Given the description of an element on the screen output the (x, y) to click on. 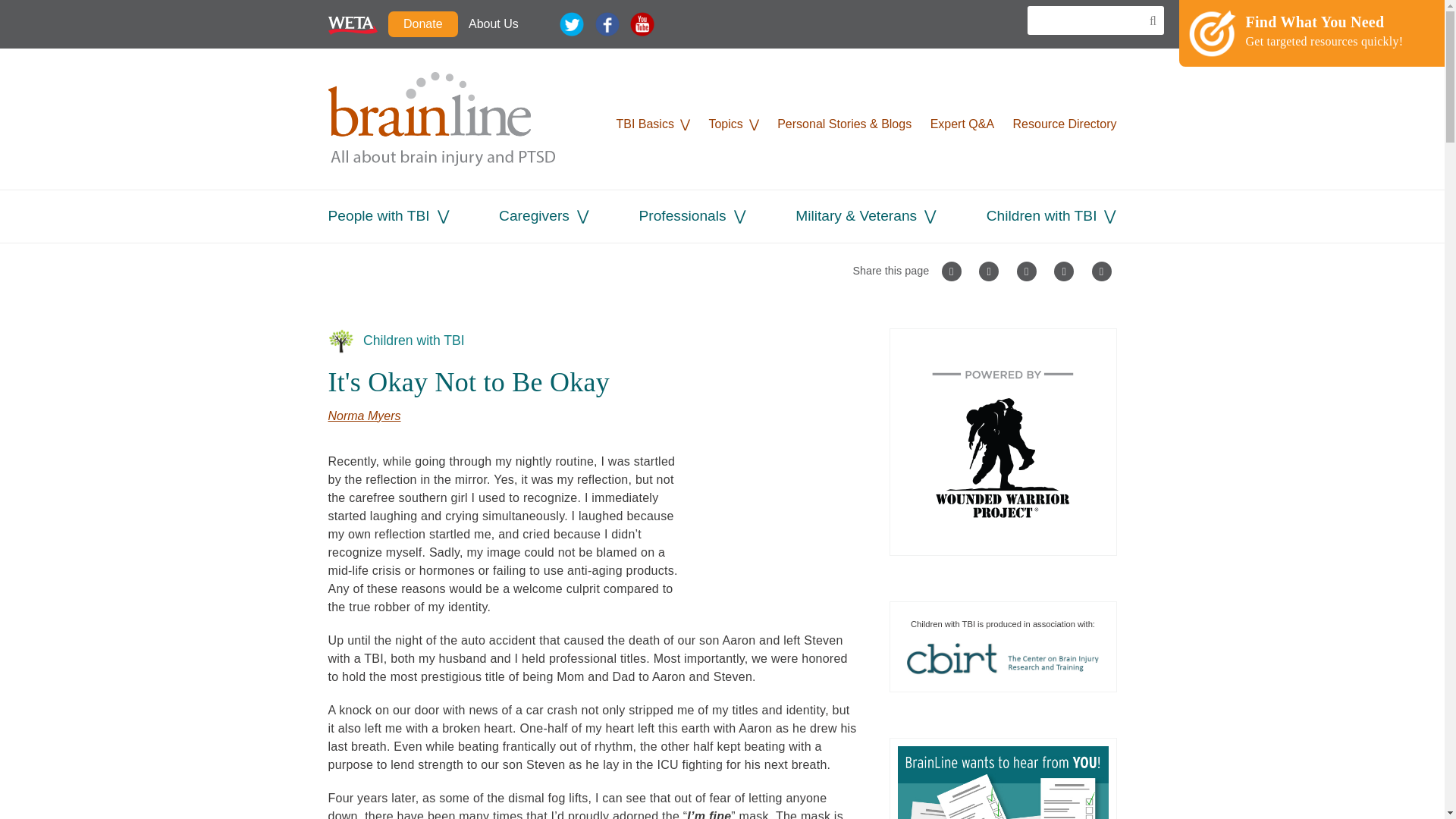
Home (440, 119)
People with TBI (378, 215)
Search (1148, 21)
Donate (423, 23)
Twitter (571, 24)
Search (1148, 21)
About Us (493, 23)
WETA (352, 24)
Resource Directory (1064, 123)
YouTube (641, 24)
Facebook (607, 24)
TBI Basics (643, 123)
Topics (724, 123)
